Given the description of an element on the screen output the (x, y) to click on. 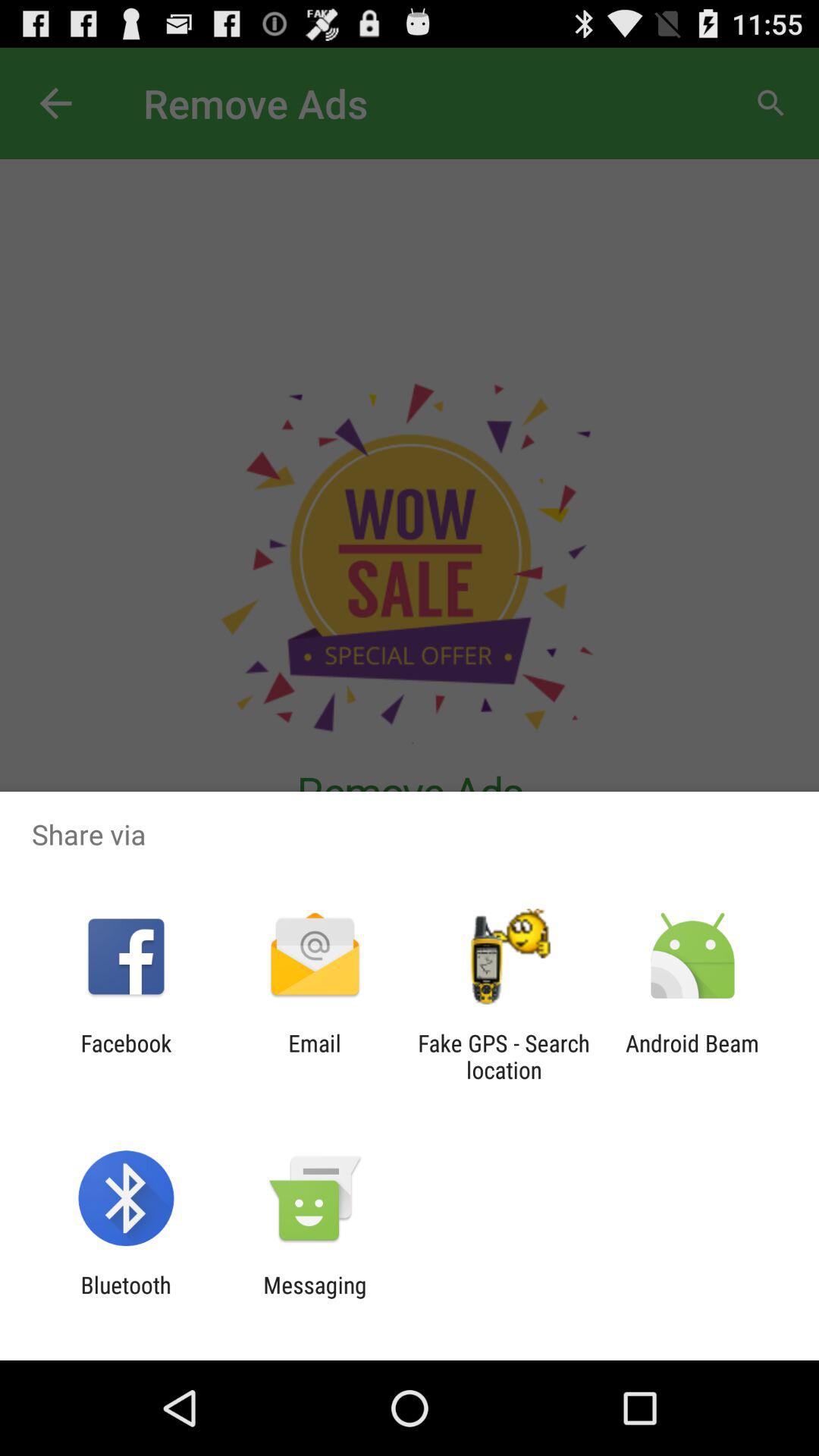
turn off item to the right of email item (503, 1056)
